Given the description of an element on the screen output the (x, y) to click on. 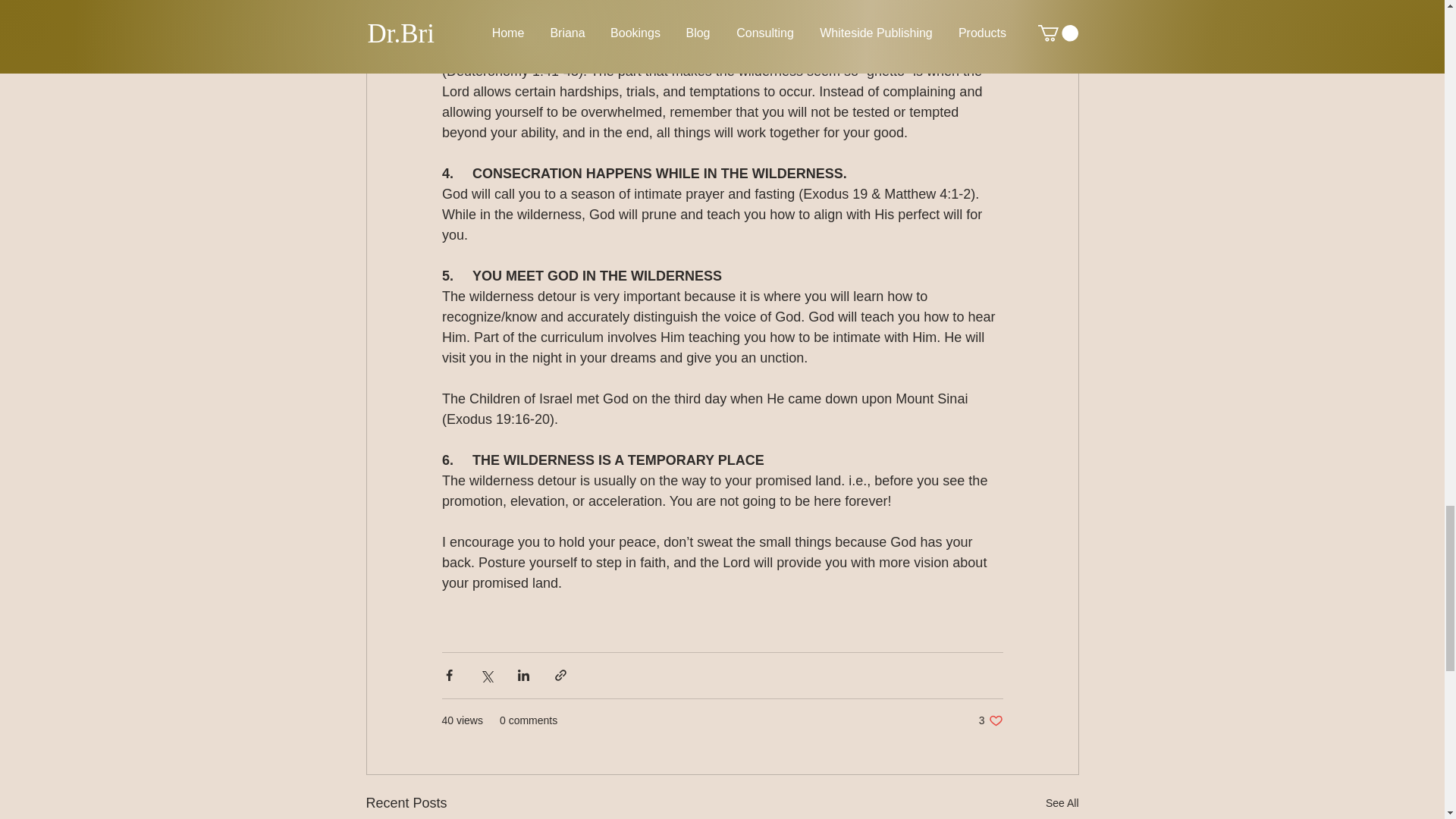
See All (1061, 803)
